Given the description of an element on the screen output the (x, y) to click on. 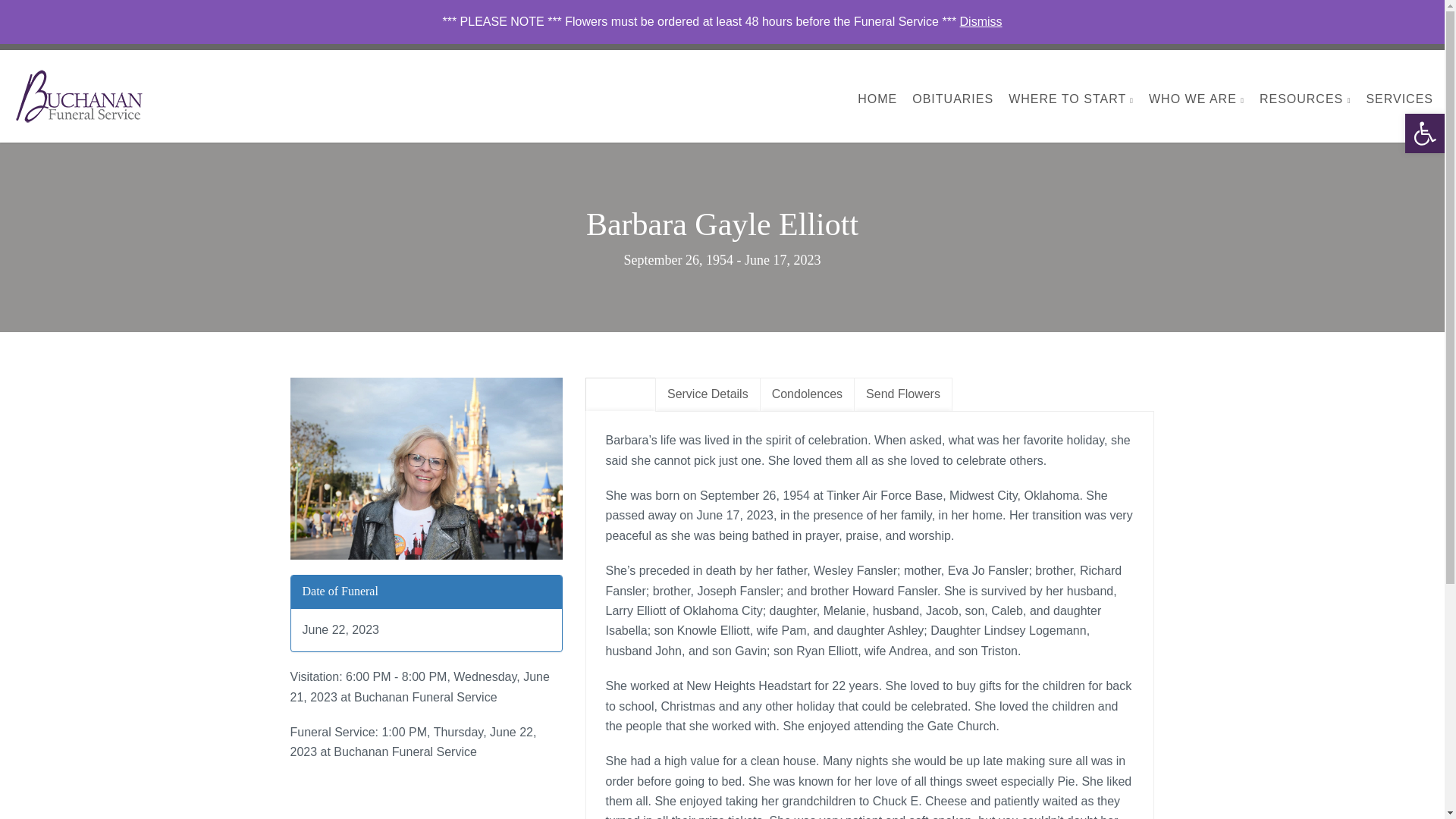
WHO WE ARE (1196, 99)
Obituary (620, 394)
SERVICES (1398, 99)
Casket Choices (1259, 34)
Contact (1415, 34)
WHERE TO START (1071, 99)
Contact (1415, 34)
Legal Advice (1346, 34)
Send Flowers (1171, 34)
Legal Advice (1346, 34)
